Given the description of an element on the screen output the (x, y) to click on. 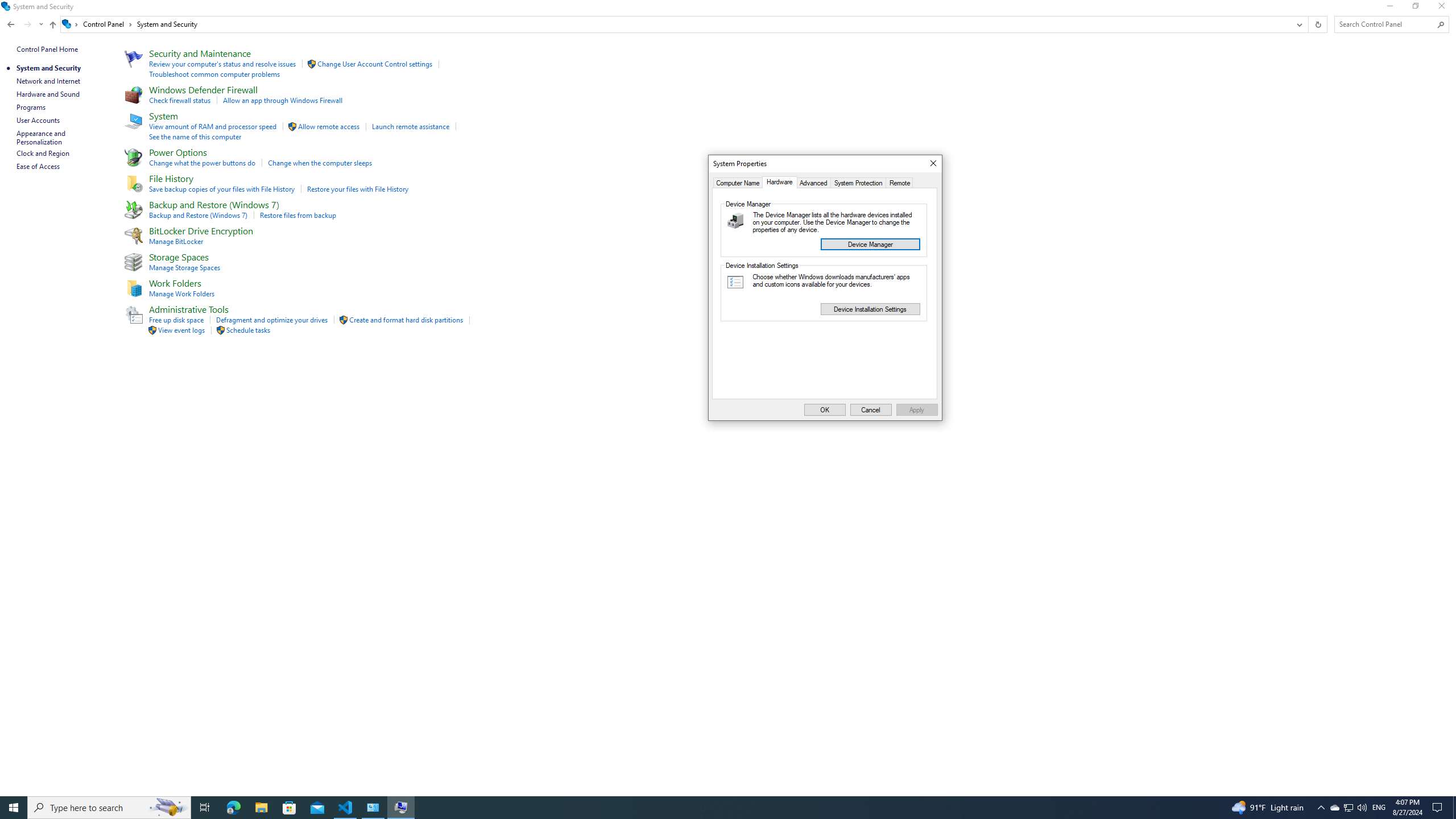
Computer Name (737, 182)
Cancel (871, 409)
System Protection (858, 182)
System Remote Settings - 1 running window (400, 807)
Control Panel - 1 running window (373, 807)
Device Manager (869, 243)
